Given the description of an element on the screen output the (x, y) to click on. 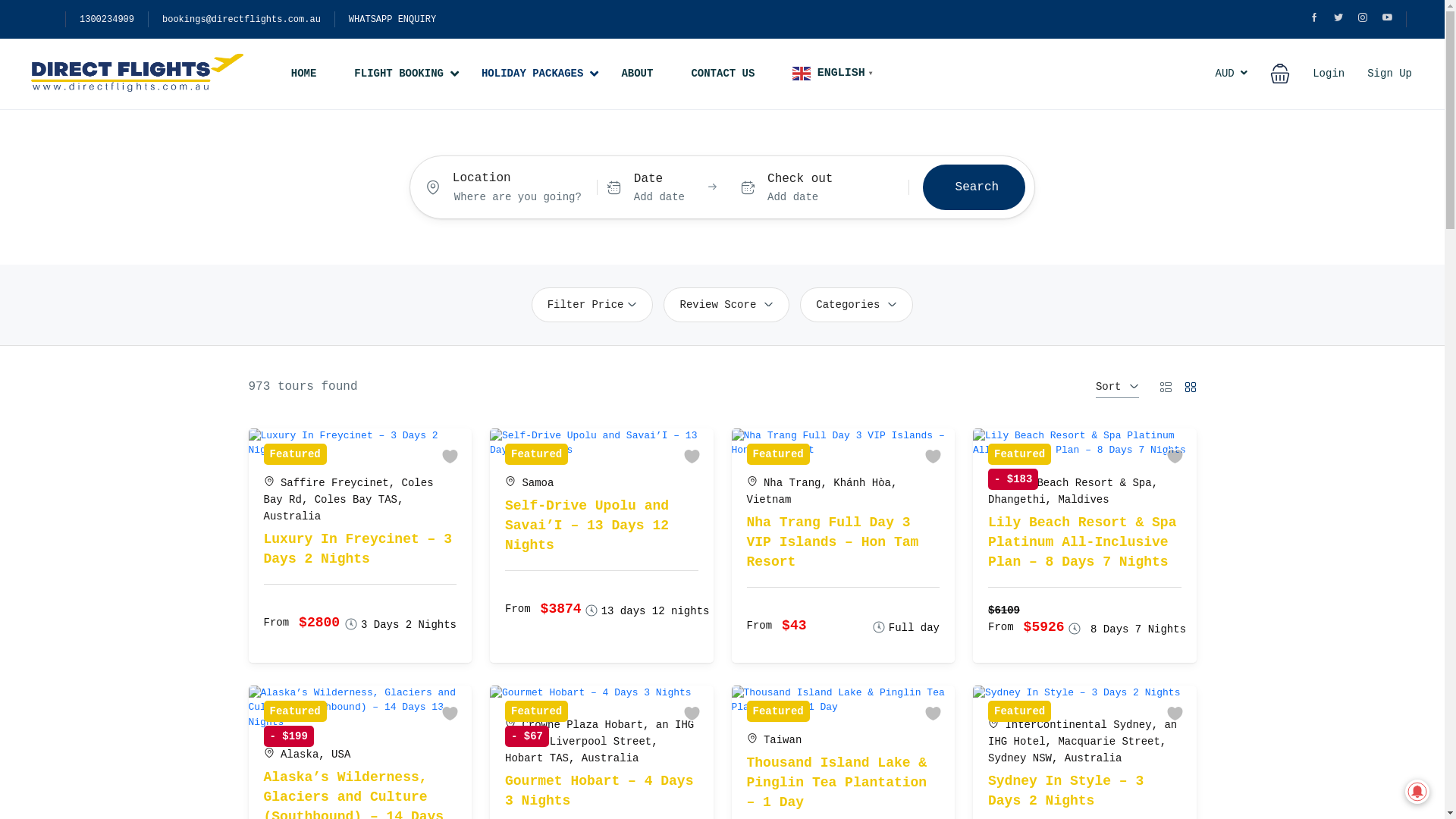
CONTACT US Element type: text (722, 73)
Categories Element type: text (856, 303)
AUD Element type: text (1231, 73)
ABOUT Element type: text (636, 73)
Add to wishlist Element type: hover (935, 713)
Sort Element type: text (1117, 387)
Add to wishlist Element type: hover (693, 455)
WHATSAPP ENQUIRY Element type: text (392, 19)
bookings@directflights.com.au Element type: text (241, 19)
Filter Price Element type: text (592, 303)
FLIGHT BOOKING Element type: text (398, 73)
Search Element type: text (974, 186)
Add to wishlist Element type: hover (452, 455)
Add to wishlist Element type: hover (693, 713)
Login Element type: text (1328, 73)
Sign Up Element type: text (1389, 73)
Add to wishlist Element type: hover (1177, 713)
Add to wishlist Element type: hover (1177, 455)
Add to wishlist Element type: hover (452, 713)
1300234909 Element type: text (106, 19)
HOLIDAY PACKAGES Element type: text (532, 73)
Review Score Element type: text (726, 303)
HOME Element type: text (303, 73)
Add to wishlist Element type: hover (935, 455)
